Given the description of an element on the screen output the (x, y) to click on. 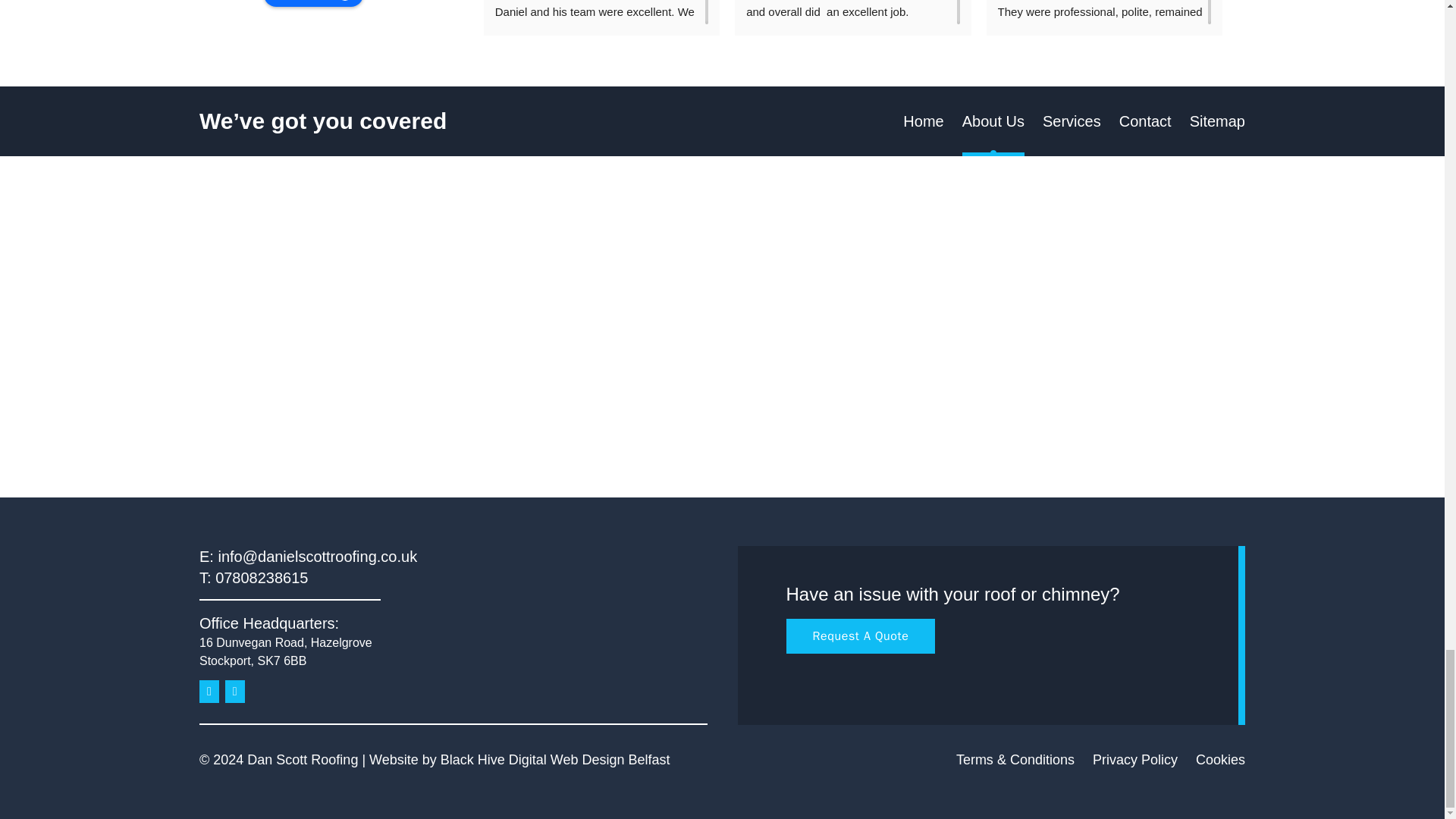
Home (922, 121)
Request A Quote (860, 636)
About Us (993, 121)
Privacy Policy (1135, 759)
Black Hive Digital Web Design Belfast (555, 759)
Sitemap (1216, 121)
07808238615 (261, 577)
Cookies (1219, 759)
Services (1071, 121)
Contact (1145, 121)
